Given the description of an element on the screen output the (x, y) to click on. 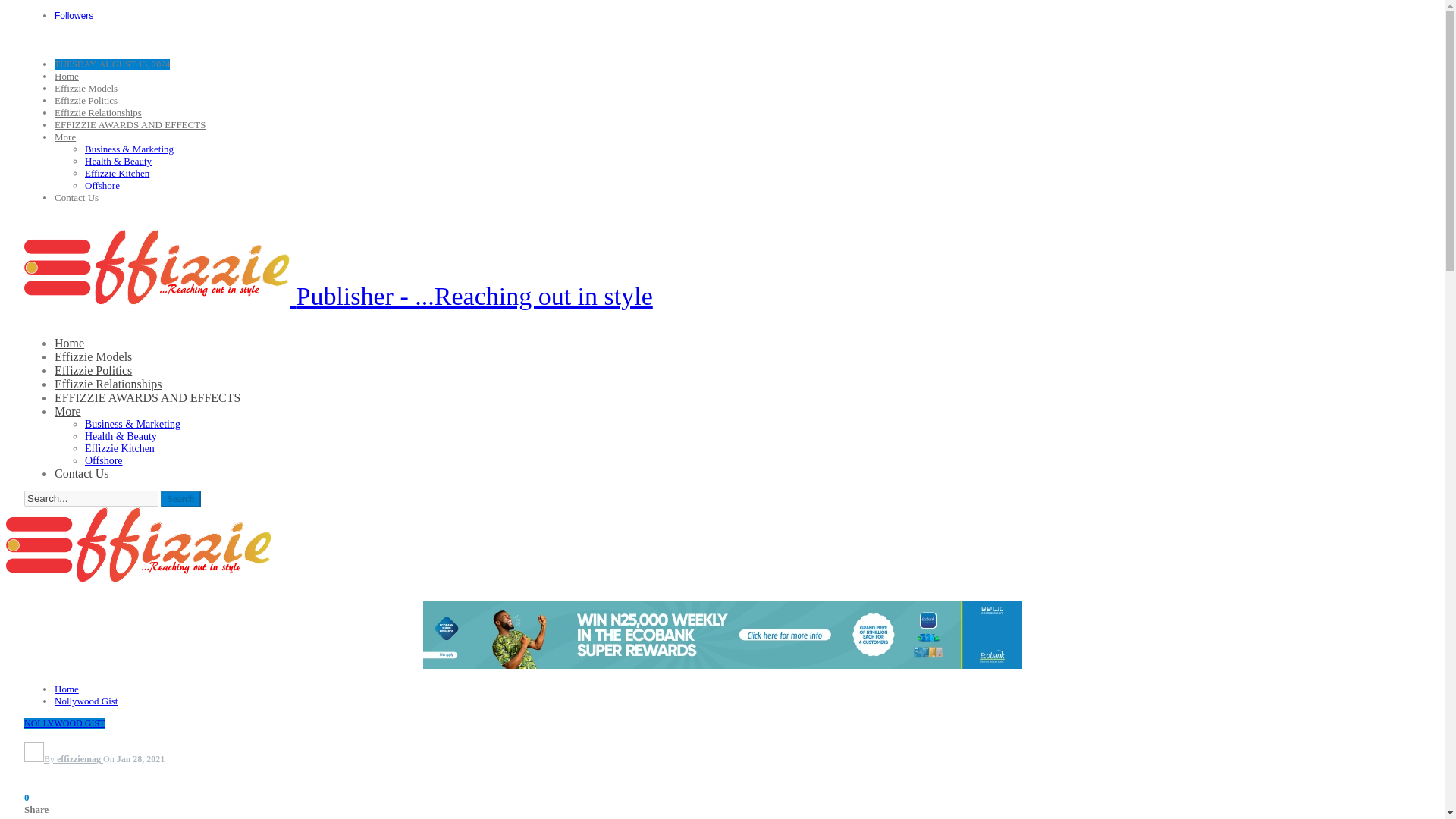
Effizzie Politics (93, 369)
Contact Us (77, 197)
Search (180, 498)
Search (180, 498)
NOLLYWOOD GIST (64, 723)
Home (66, 688)
Home (69, 342)
Browse Author Articles (63, 758)
More (68, 410)
Effizzie Models (93, 356)
